Given the description of an element on the screen output the (x, y) to click on. 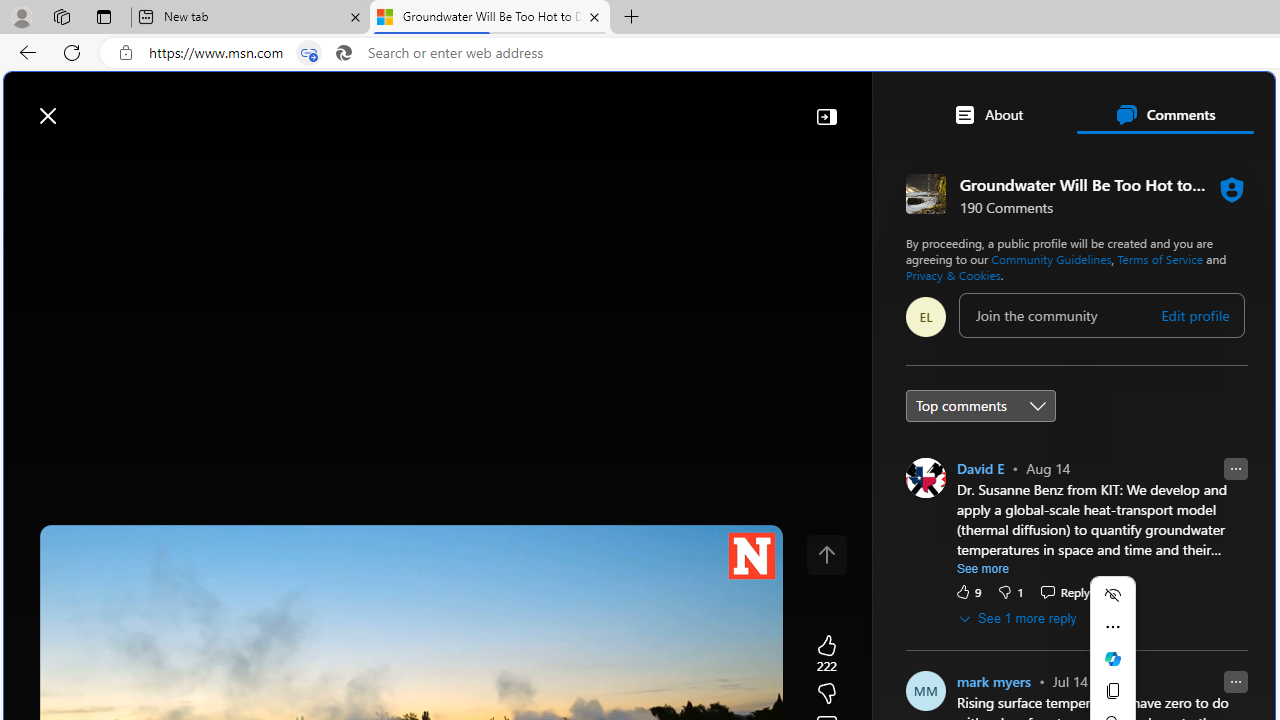
See 1 more reply (1018, 618)
Report comment (1235, 681)
Search icon (343, 53)
Copy (1112, 691)
Ask Copilot (1112, 658)
Class: control icon-only (826, 554)
